Given the description of an element on the screen output the (x, y) to click on. 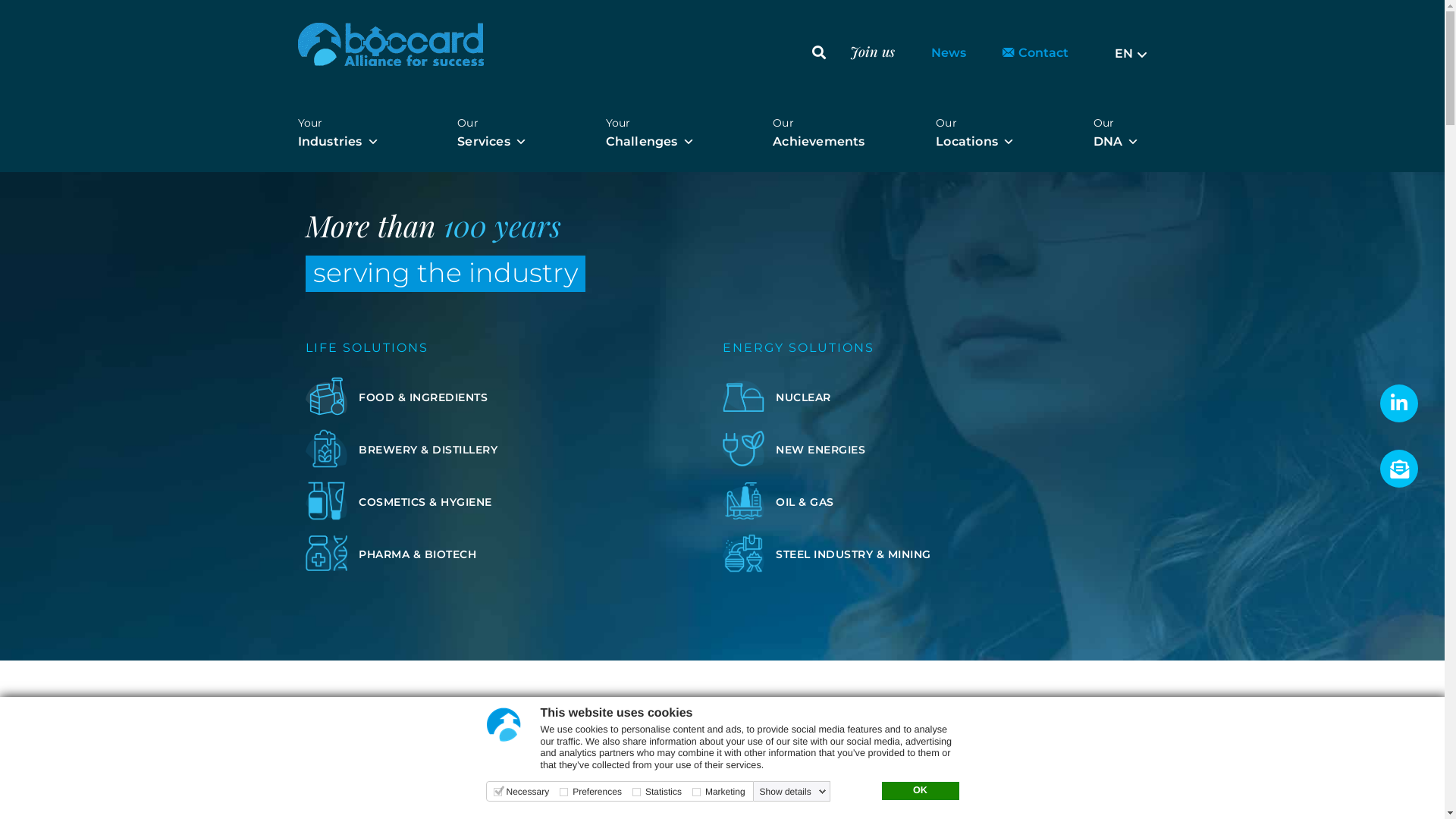
EN Element type: text (1131, 54)
NEW ENERGIES Element type: text (819, 449)
PHARMA & BIOTECH Element type: text (416, 554)
NUCLEAR Element type: text (802, 396)
Your
Industries Element type: text (341, 122)
COSMETICS & HYGIENE Element type: text (424, 501)
STEEL INDUSTRY & MINING Element type: text (852, 554)
Your
Challenges Element type: text (653, 122)
BREWERY & DISTILLERY Element type: text (426, 449)
FOOD & INGREDIENTS Element type: text (421, 396)
Fill 1
Contact Element type: text (1035, 52)
News Element type: text (948, 52)
OIL & GAS Element type: text (804, 501)
Join us Element type: text (871, 50)
Show details Element type: text (792, 791)
Our
Locations Element type: text (978, 122)
OK Element type: text (919, 790)
Our
DNA Element type: text (1120, 122)
Our
Services Element type: text (495, 122)
Our
Achievements Element type: text (818, 122)
